Given the description of an element on the screen output the (x, y) to click on. 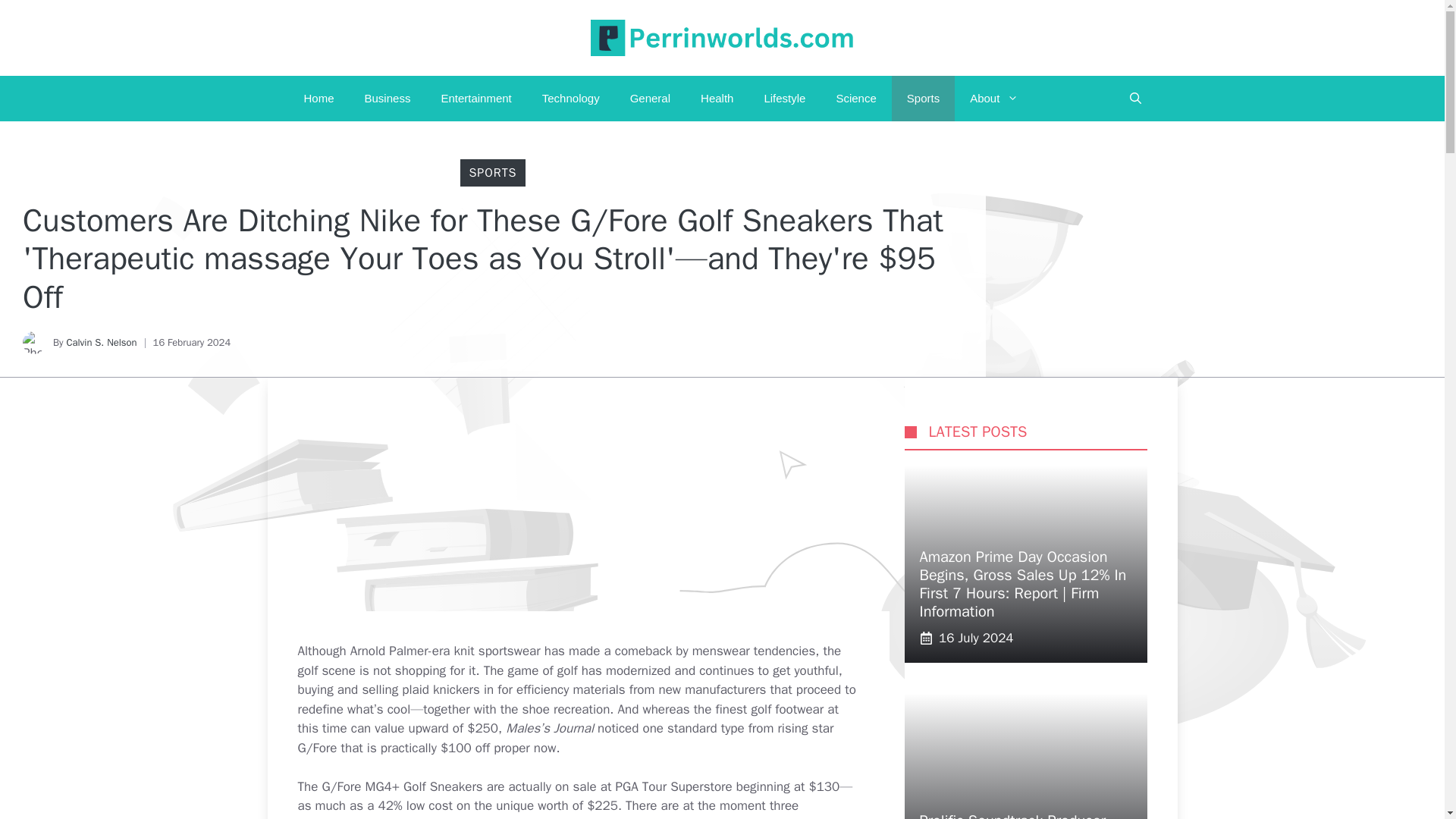
Business (387, 98)
Technology (570, 98)
Lifestyle (784, 98)
the shoe recreation (555, 709)
SPORTS (492, 172)
General (649, 98)
menswear tendencies (754, 650)
Entertainment (475, 98)
Sports (923, 98)
finest golf footwear (770, 709)
Health (716, 98)
Science (856, 98)
About (994, 98)
Calvin S. Nelson (100, 341)
